Given the description of an element on the screen output the (x, y) to click on. 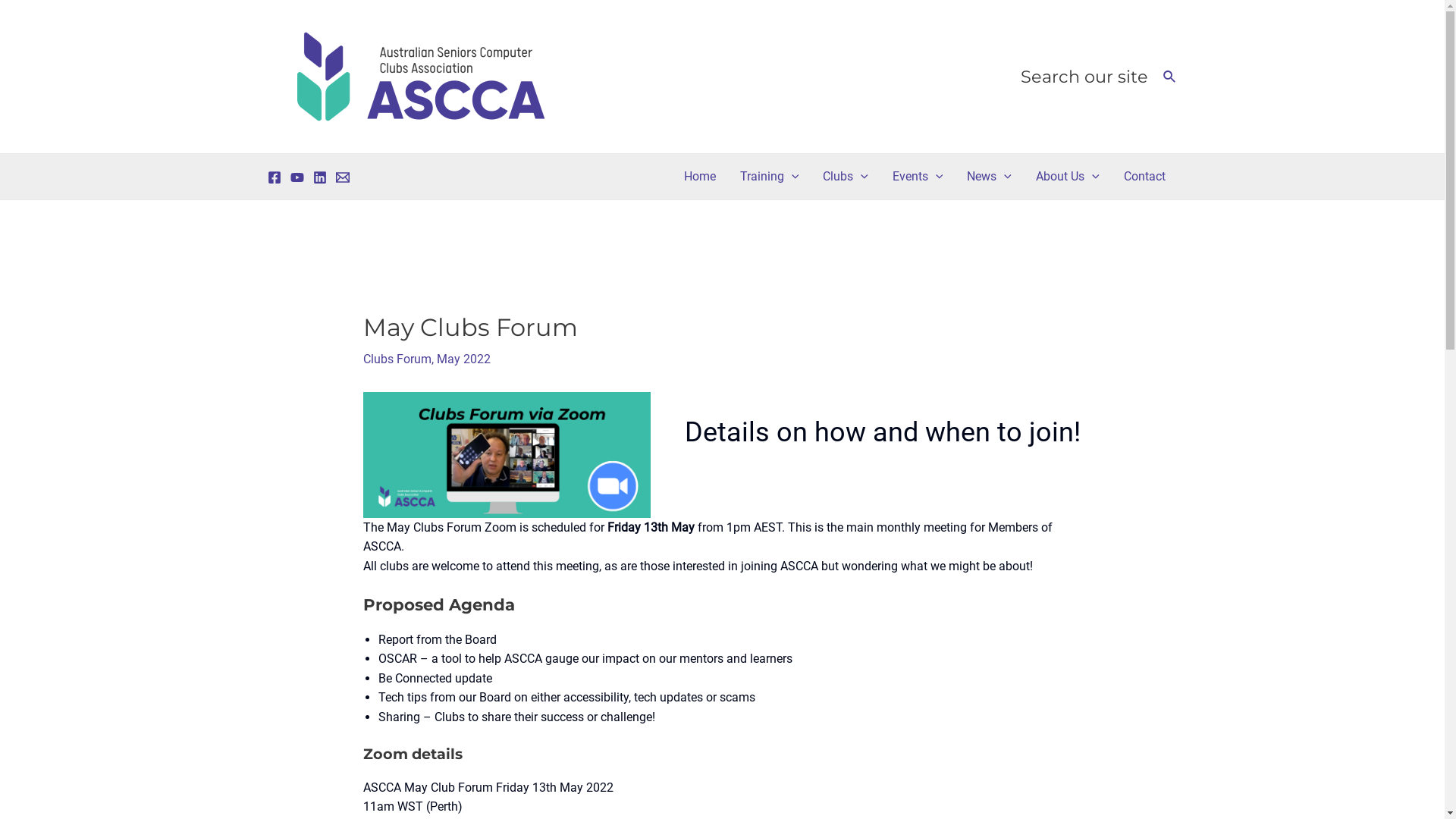
May 2022 Element type: text (463, 358)
News Element type: text (988, 176)
Clubs Element type: text (845, 176)
Search Element type: text (1169, 75)
Home Element type: text (699, 176)
Clubs Forum Element type: text (397, 358)
Events Element type: text (917, 176)
About Us Element type: text (1067, 176)
Training Element type: text (769, 176)
Contact Element type: text (1144, 176)
